Given the description of an element on the screen output the (x, y) to click on. 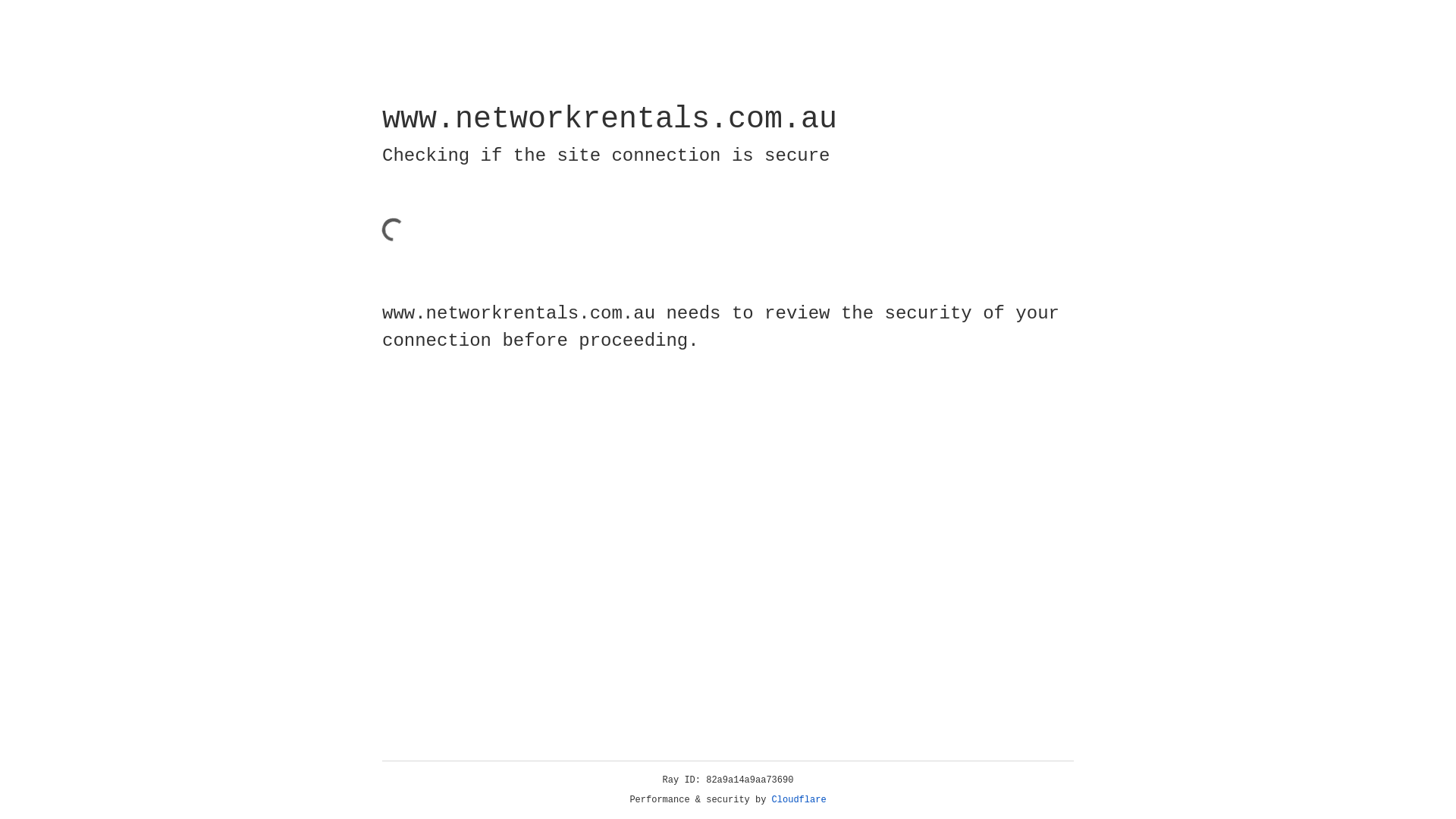
Cloudflare Element type: text (798, 799)
